Given the description of an element on the screen output the (x, y) to click on. 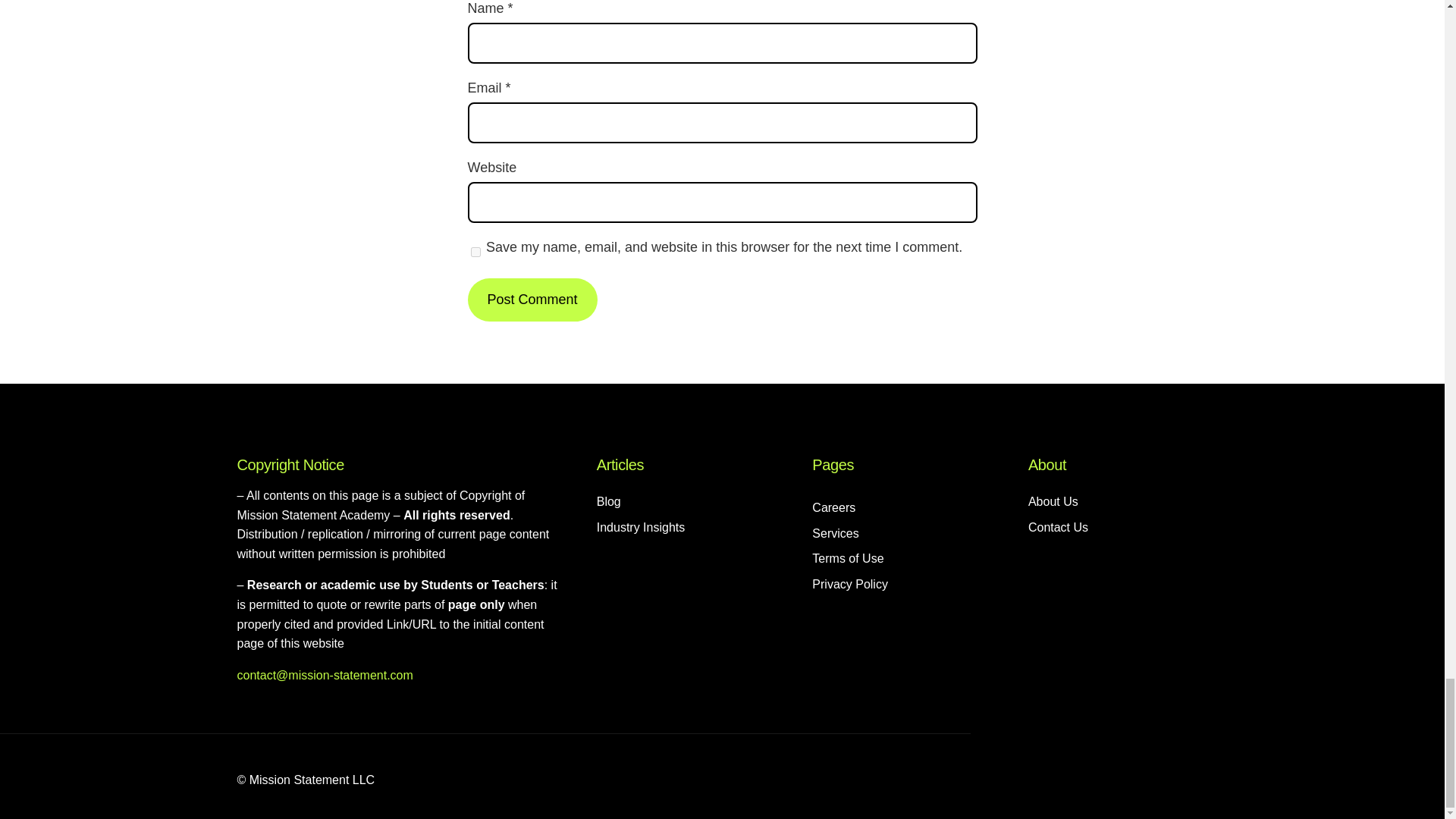
Privacy Policy (850, 584)
About Us (1052, 501)
Terms of Use (847, 558)
yes (475, 251)
Blog (608, 501)
Contact Us (1057, 527)
Post Comment (531, 299)
Post Comment (531, 299)
Services (835, 533)
Careers (834, 507)
Industry Insights (640, 527)
